Given the description of an element on the screen output the (x, y) to click on. 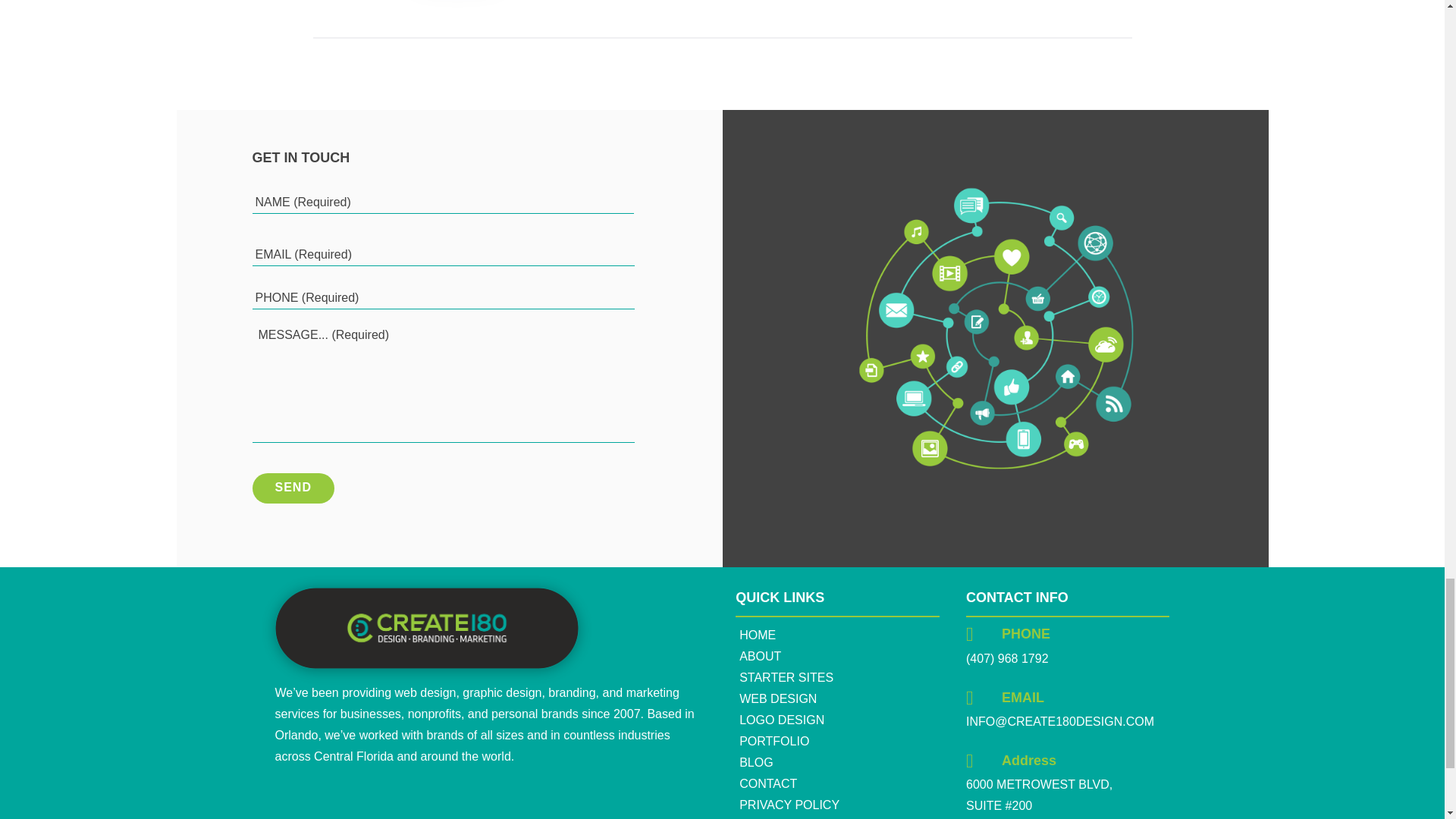
C180D-Footer-Logo (426, 628)
Send (292, 488)
